Given the description of an element on the screen output the (x, y) to click on. 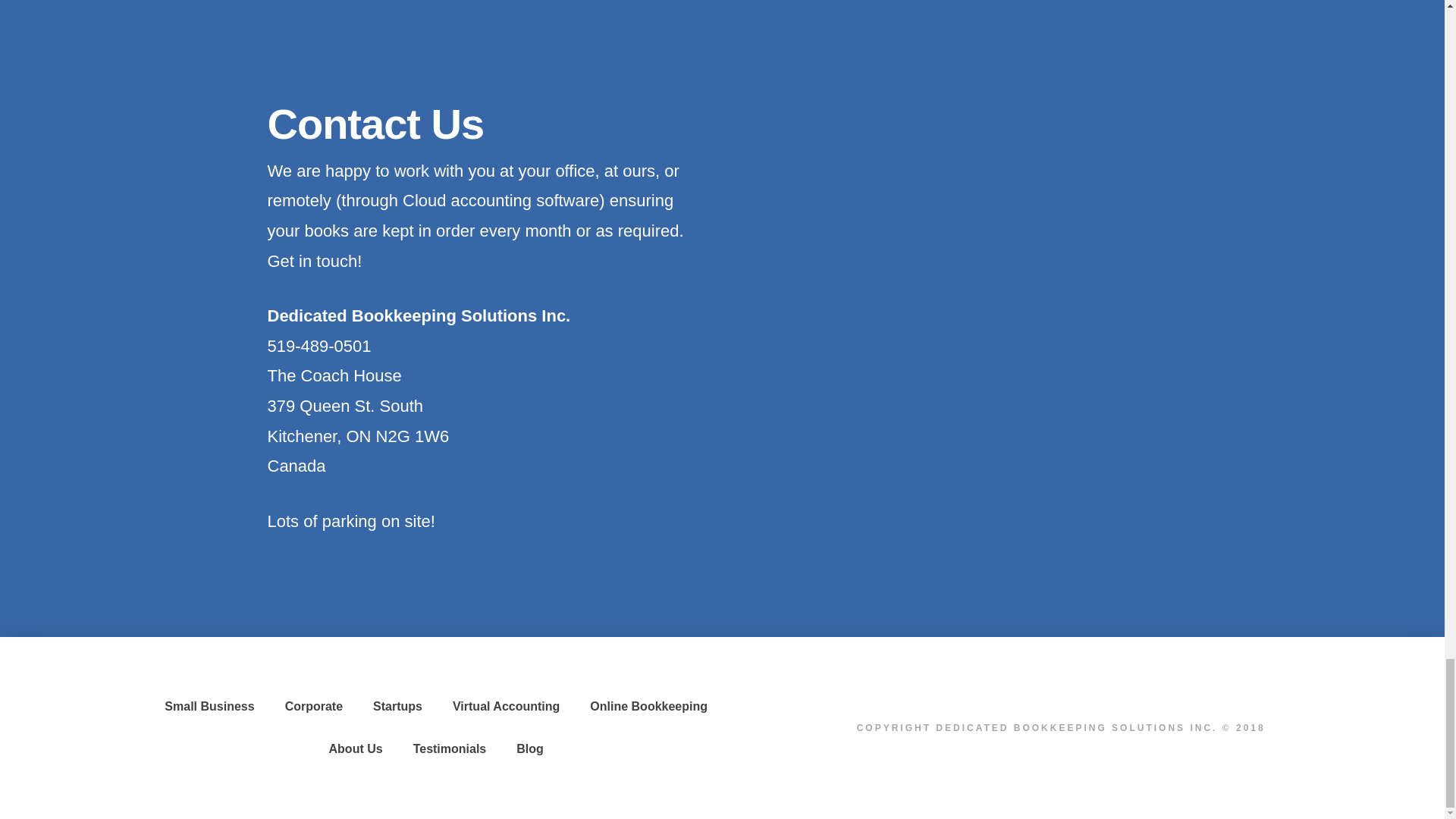
Startups (398, 706)
Virtual Accounting (506, 706)
Small Business (209, 706)
Corporate (313, 706)
Blog (529, 749)
519-489-0501 (318, 345)
Online Bookkeeping (648, 706)
About Us (355, 749)
Testimonials (449, 749)
